Given the description of an element on the screen output the (x, y) to click on. 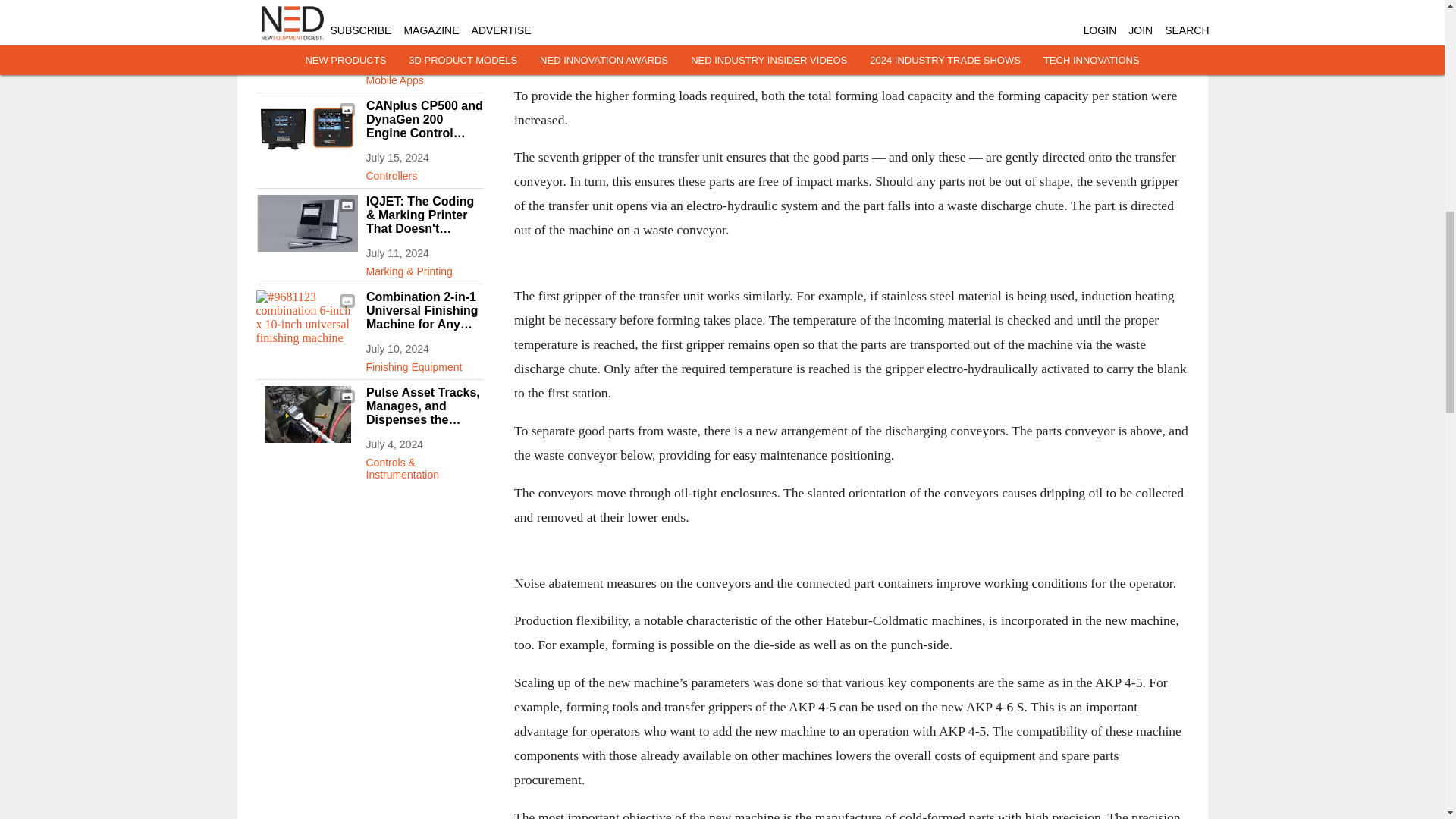
IQJET (307, 222)
CP500 and DynaGen 200 (307, 127)
Pulse Asset (307, 414)
